Given the description of an element on the screen output the (x, y) to click on. 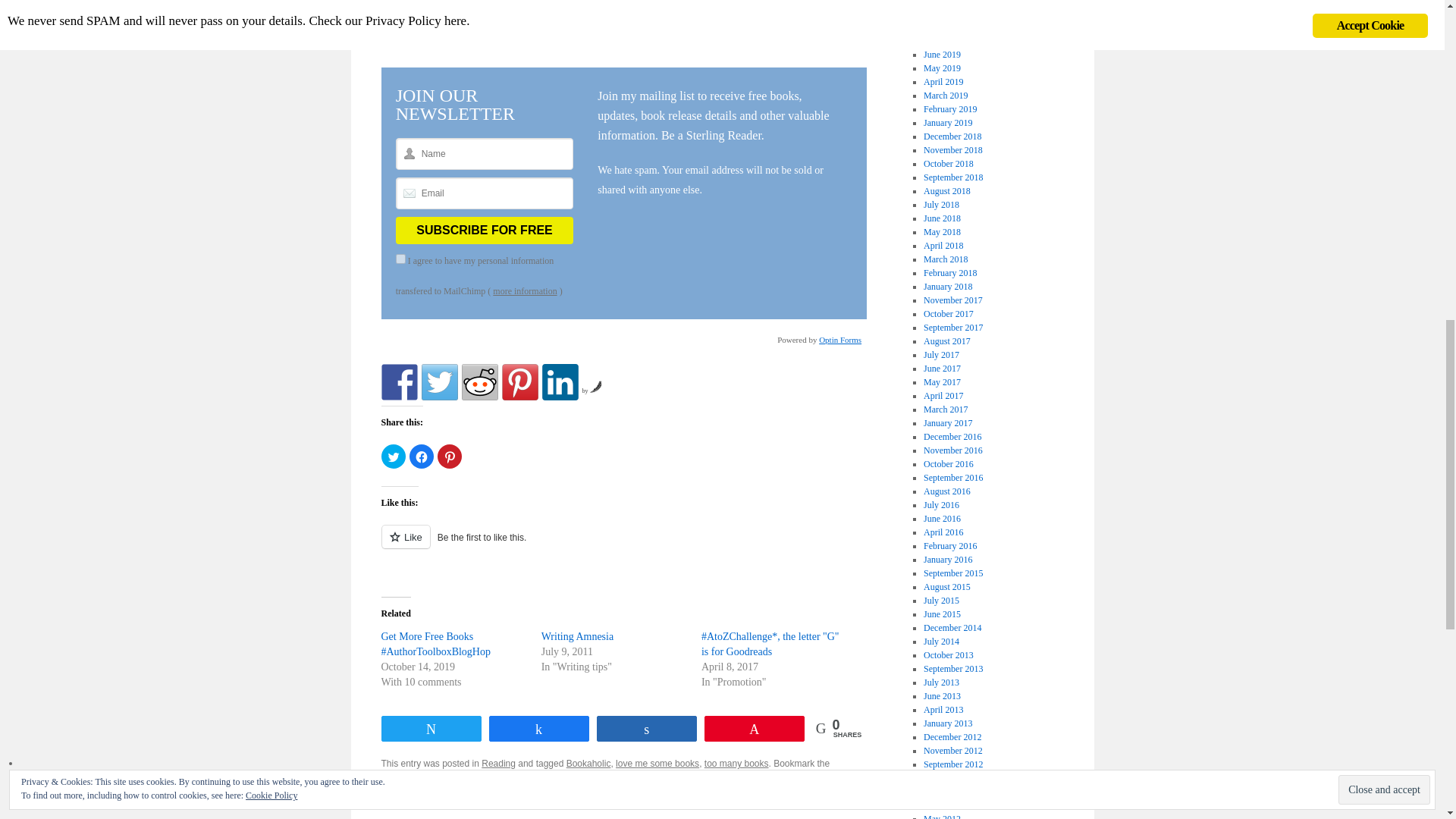
Optin Forms (839, 338)
more information (524, 290)
Share on Linkedin (559, 381)
SUBSCRIBE FOR FREE (484, 230)
Share on Facebook (398, 381)
Pin it with Pinterest (520, 381)
Share on Twitter (440, 381)
WordPress Social Media Feather (592, 390)
Click to share on Twitter (392, 456)
SUBSCRIBE FOR FREE (484, 230)
on (401, 258)
Share on Reddit (479, 381)
